Given the description of an element on the screen output the (x, y) to click on. 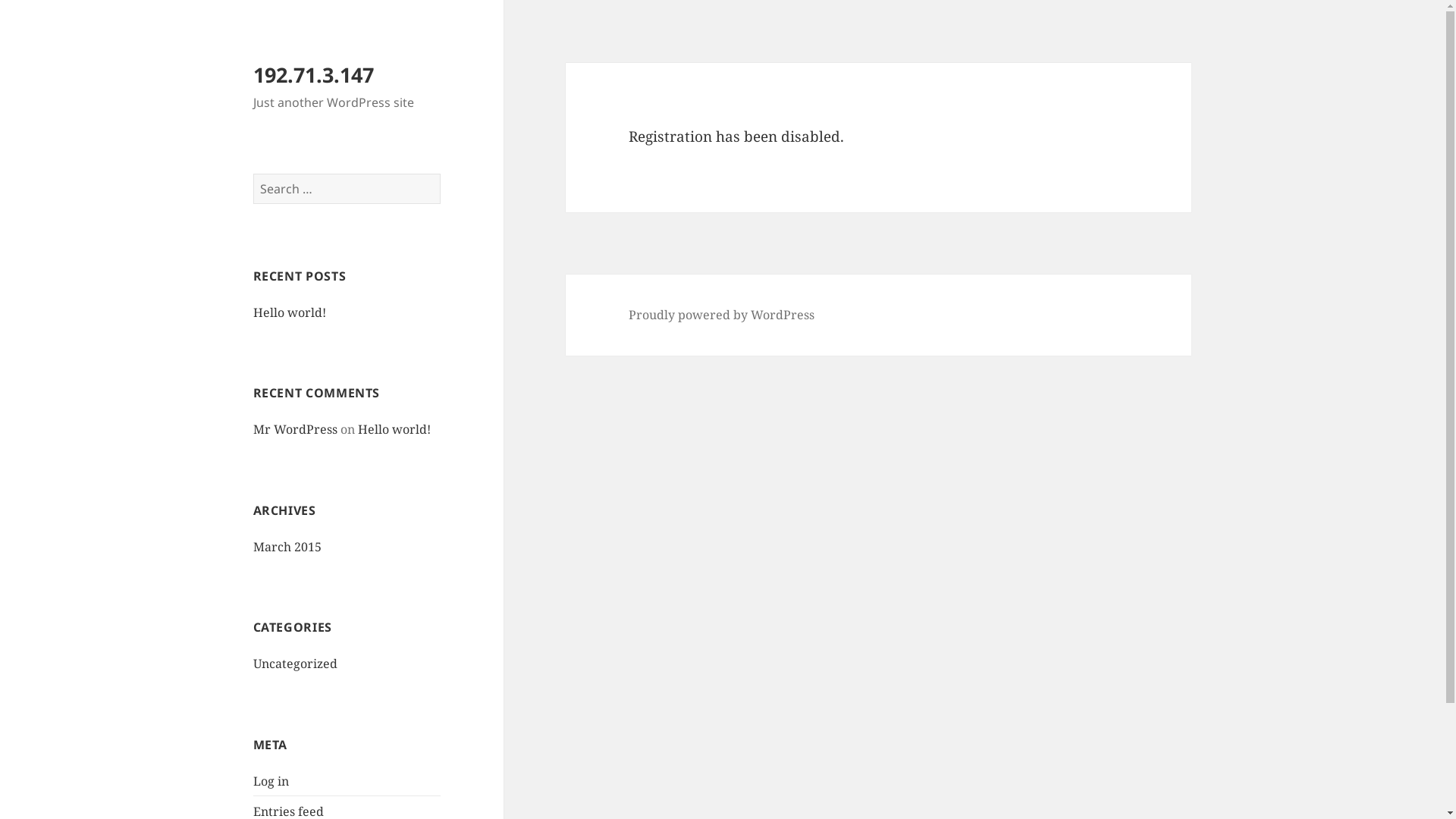
Mr WordPress Element type: text (295, 428)
March 2015 Element type: text (287, 546)
Hello world! Element type: text (393, 428)
192.71.3.147 Element type: text (313, 74)
Log in Element type: text (270, 780)
Search Element type: text (439, 172)
Proudly powered by WordPress Element type: text (721, 314)
Uncategorized Element type: text (295, 663)
Hello world! Element type: text (289, 312)
